Given the description of an element on the screen output the (x, y) to click on. 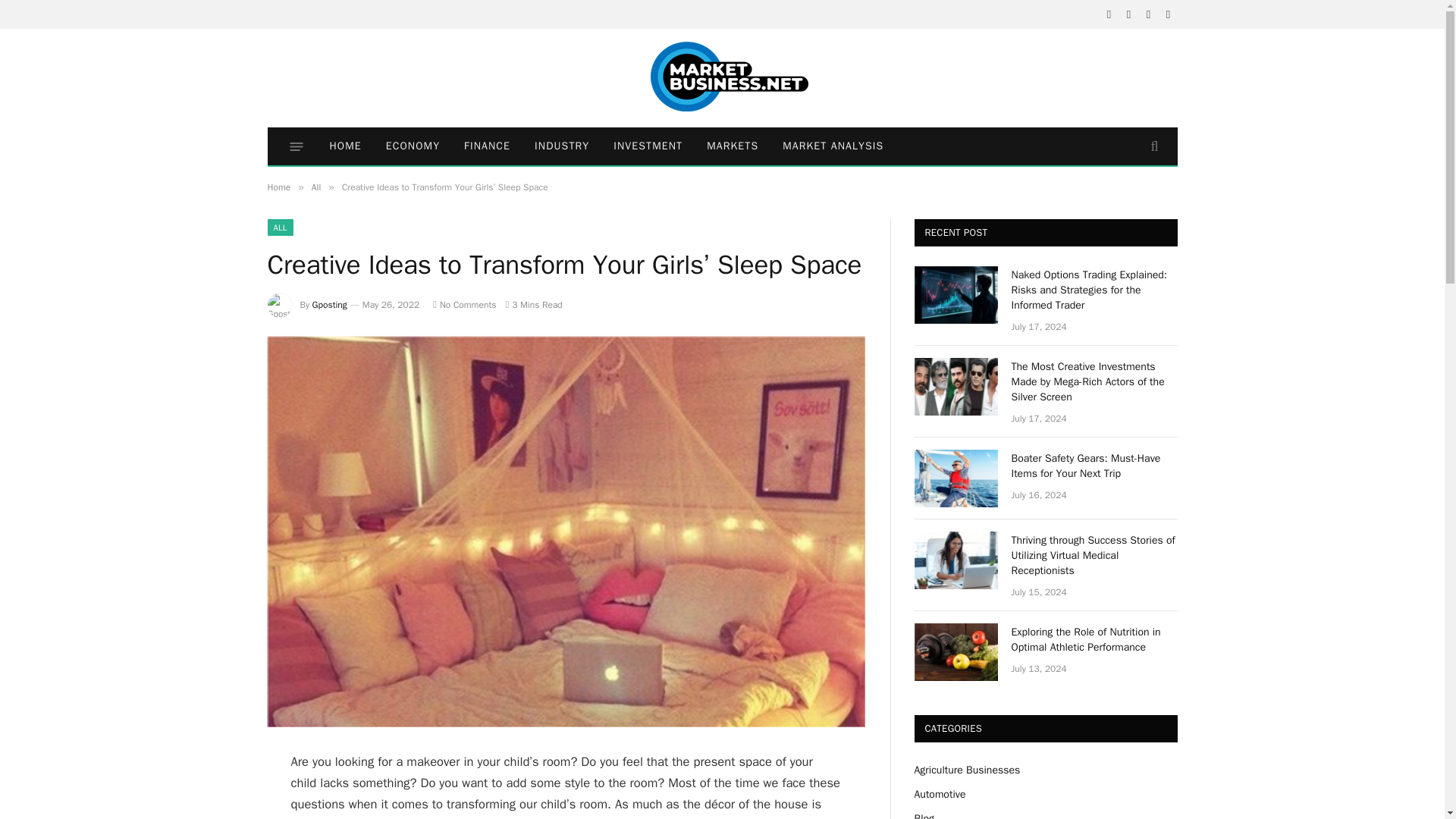
Marketbusiness (721, 77)
FINANCE (486, 146)
ECONOMY (412, 146)
INVESTMENT (647, 146)
Posts by Gposting (330, 304)
INDUSTRY (561, 146)
Home (277, 186)
MARKET ANALYSIS (832, 146)
HOME (344, 146)
MARKETS (732, 146)
Gposting (330, 304)
ALL (279, 227)
No Comments (464, 304)
